Given the description of an element on the screen output the (x, y) to click on. 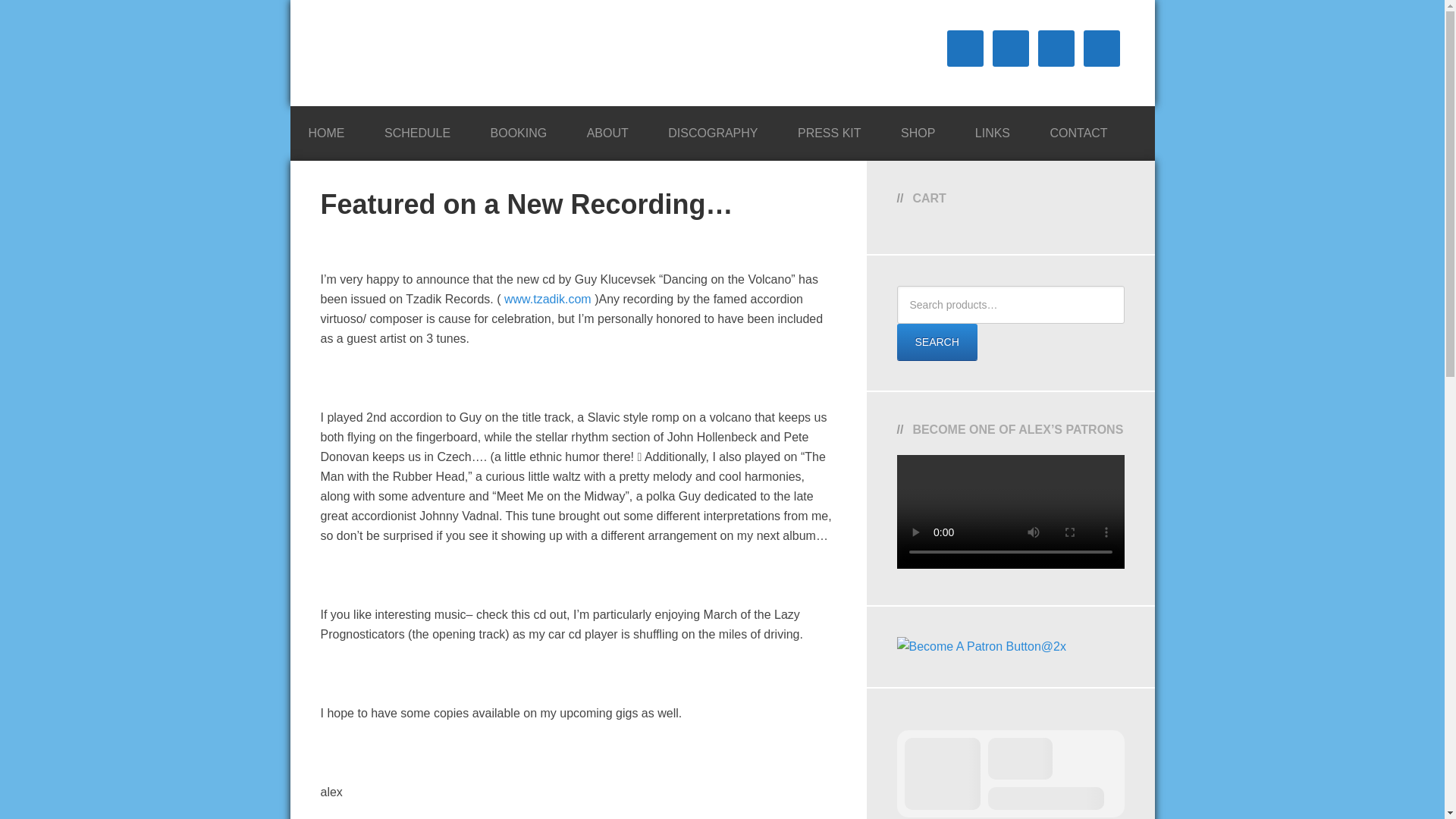
BOOKING (518, 128)
ALEX MEIXNER (433, 53)
www.tzadik.com (547, 298)
CONTACT (1077, 128)
SEARCH (936, 341)
SCHEDULE (417, 128)
DISCOGRAPHY (712, 128)
HOME (325, 128)
SHOP (917, 128)
ABOUT (607, 128)
